Given the description of an element on the screen output the (x, y) to click on. 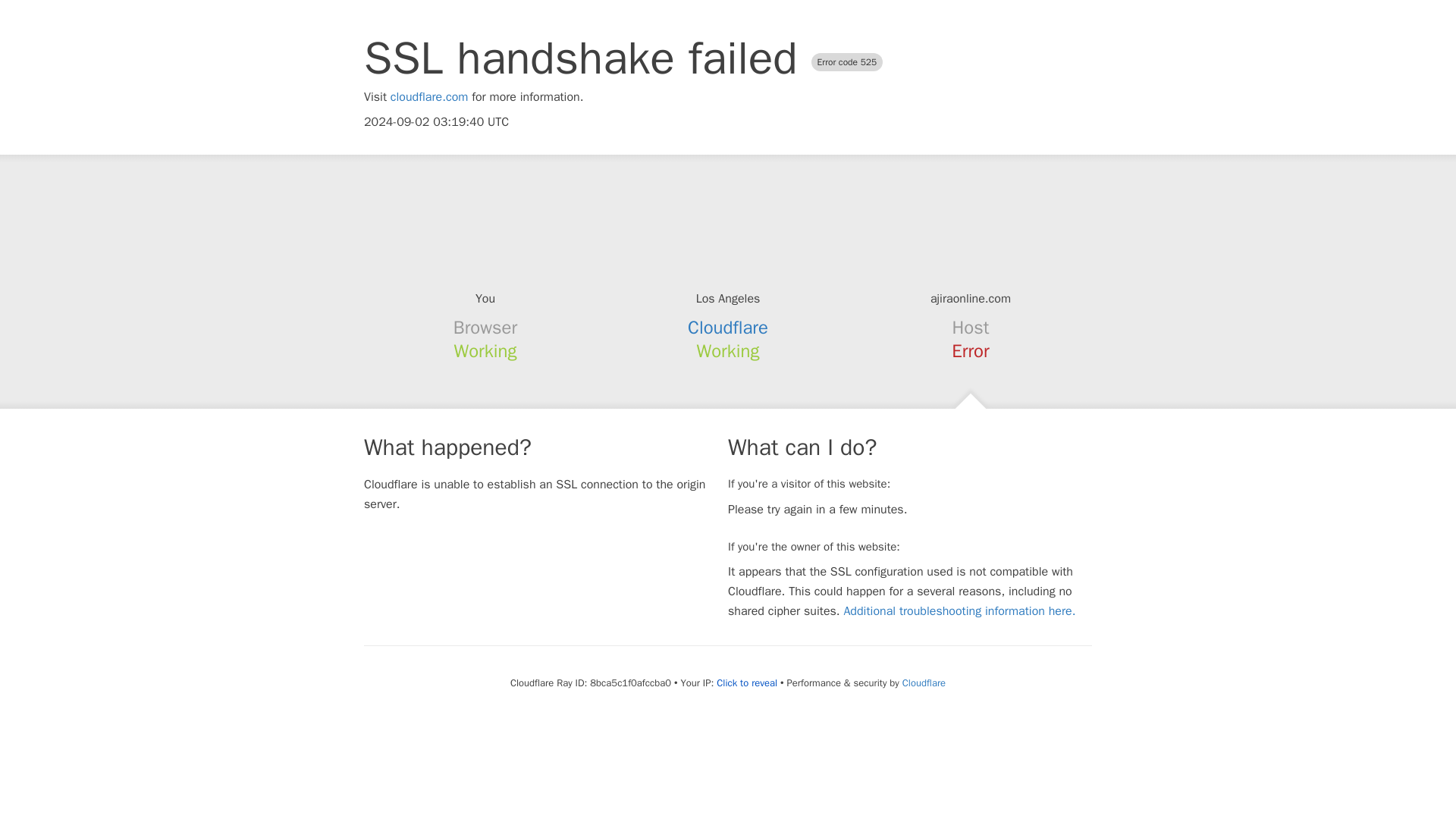
Cloudflare (923, 682)
Additional troubleshooting information here. (959, 611)
Click to reveal (746, 683)
Cloudflare (727, 327)
cloudflare.com (429, 96)
